Given the description of an element on the screen output the (x, y) to click on. 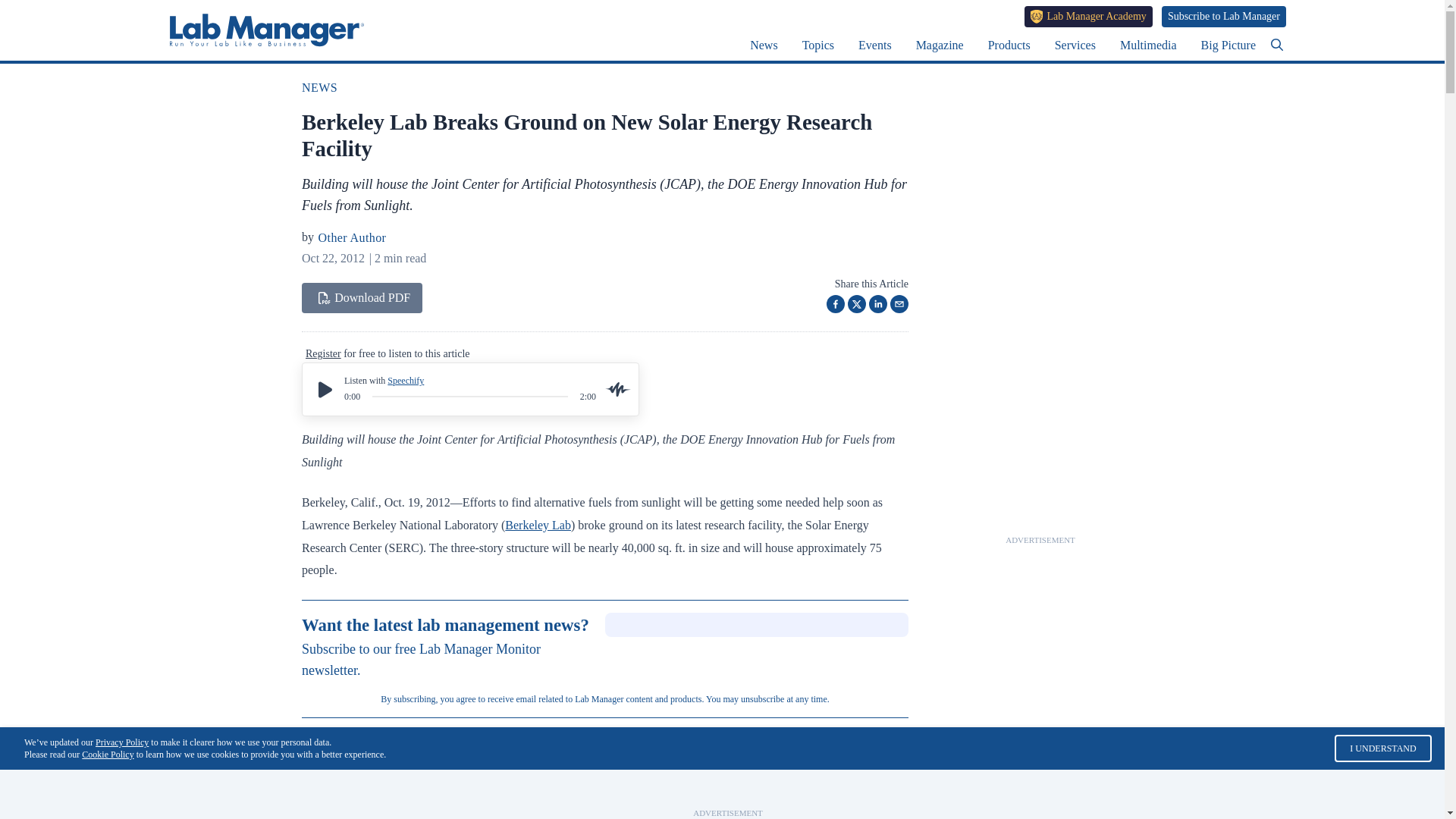
3rd party ad content (1040, 788)
Subscribe to Lab Manager (1223, 16)
Topics (817, 45)
3rd party ad content (728, 789)
News (763, 45)
Lab Manager Academy (1089, 16)
